Given the description of an element on the screen output the (x, y) to click on. 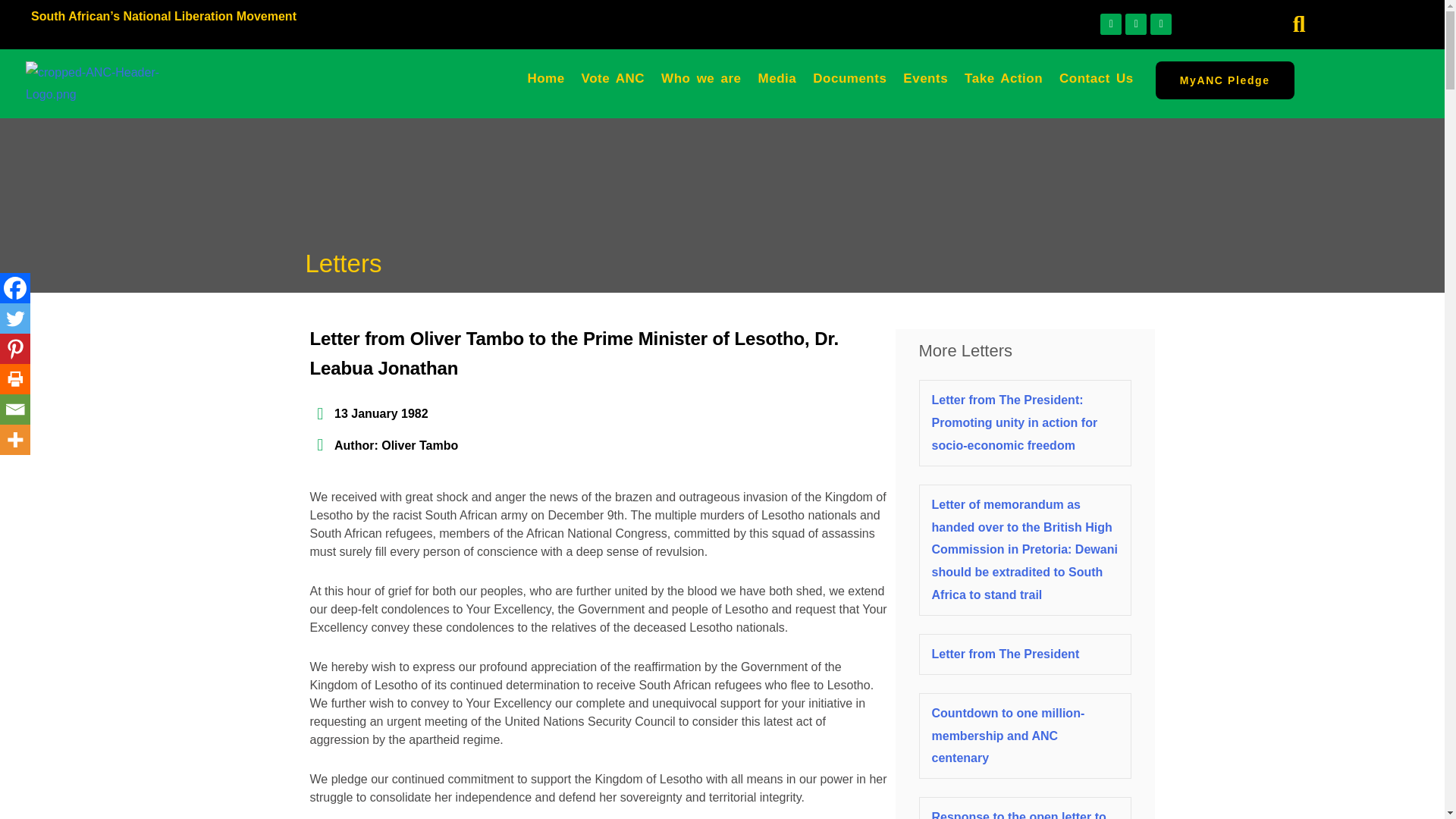
Facebook (15, 287)
Home (544, 78)
cropped-ANC-Header-Logo.png (92, 83)
Documents (849, 78)
Youtube (1161, 24)
More (15, 440)
Email (15, 409)
Media (777, 78)
Print (15, 378)
Who we are (700, 78)
